Given the description of an element on the screen output the (x, y) to click on. 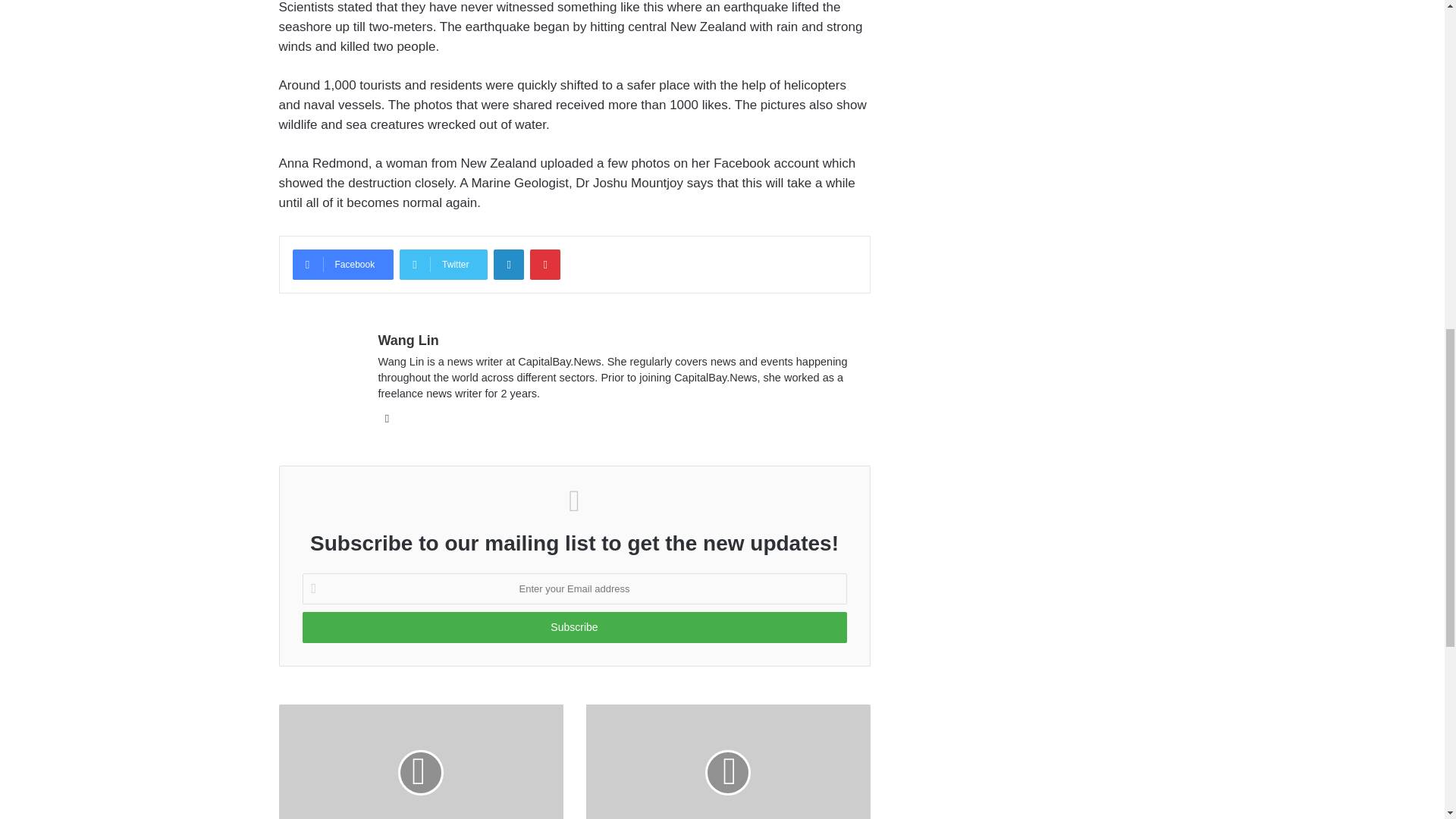
Facebook (343, 264)
Pinterest (544, 264)
Subscribe (573, 626)
Twitter (442, 264)
LinkedIn (508, 264)
